Given the description of an element on the screen output the (x, y) to click on. 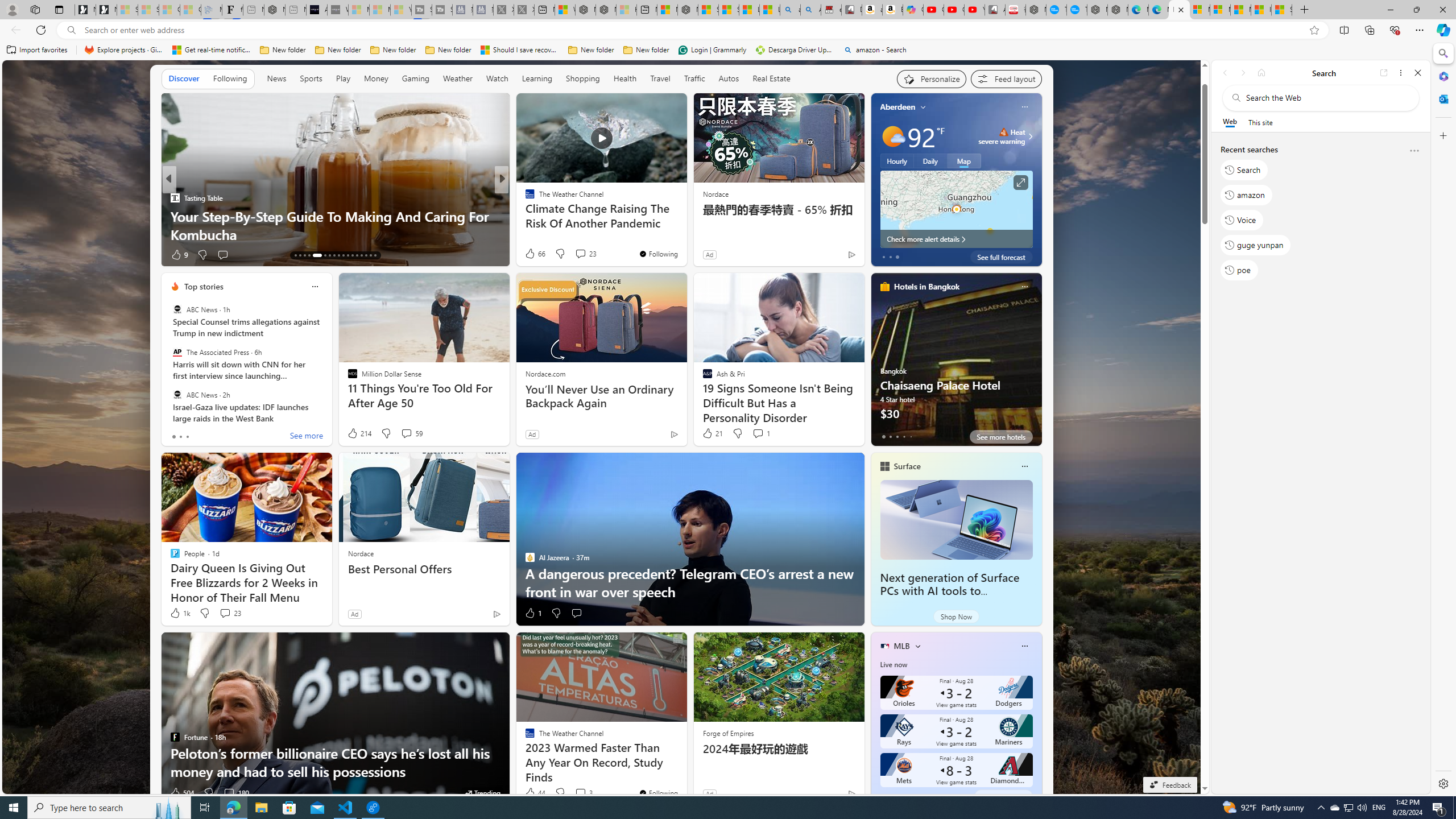
214 Like (358, 433)
tab-4 (910, 795)
Heat - Severe (1003, 131)
View comments 10 Comment (580, 254)
hotels-header-icon (884, 286)
AutomationID: tab-20 (333, 255)
New folder (646, 49)
Search the web (1326, 97)
